Given the description of an element on the screen output the (x, y) to click on. 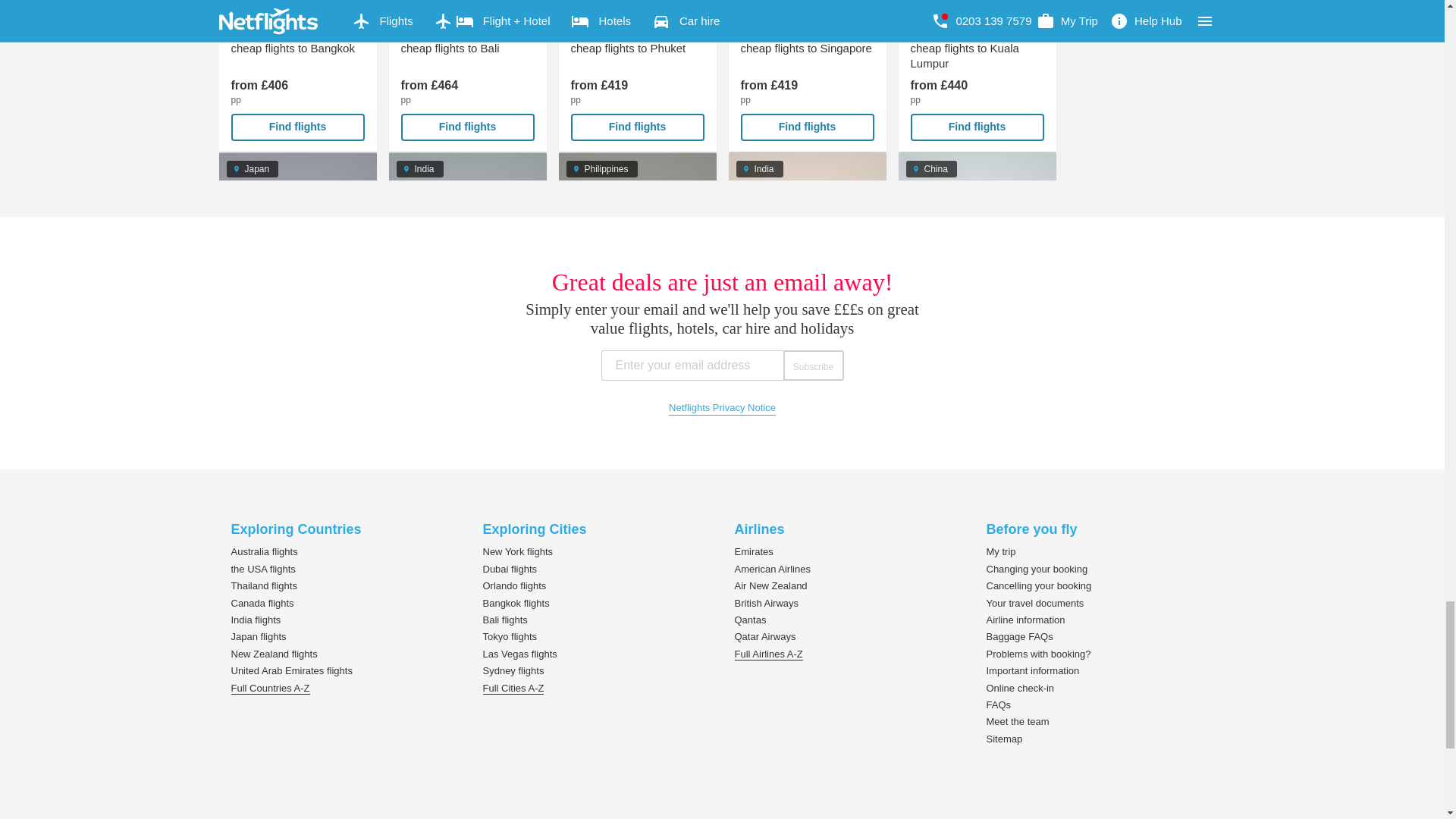
cheap flights to Kuala Lumpur (976, 75)
cheap flights to Phuket (636, 75)
cheap flights to Bali (467, 75)
cheap flights to Bangkok (296, 75)
cheap flights to Singapore (806, 75)
